Given the description of an element on the screen output the (x, y) to click on. 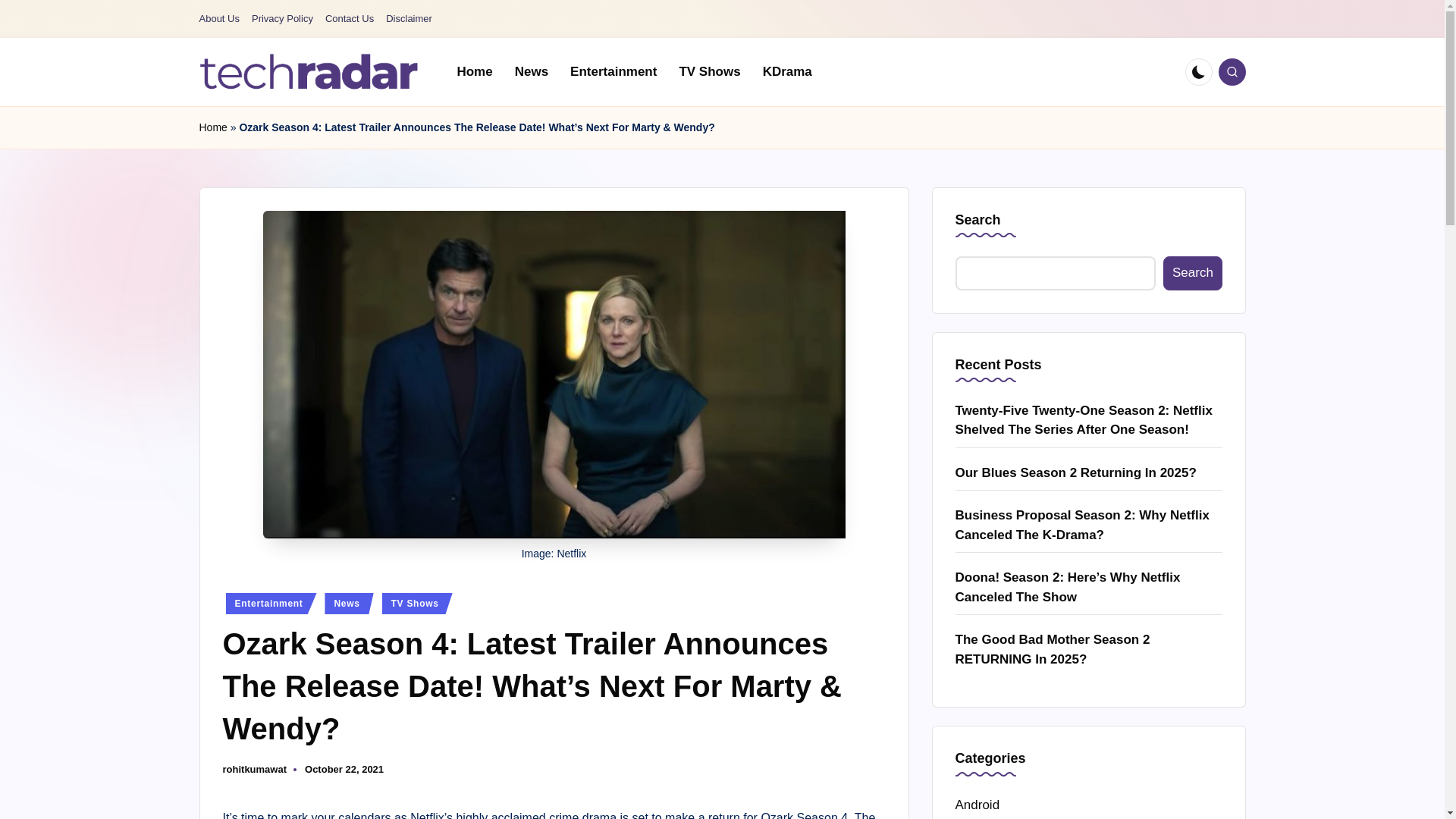
Contact Us (349, 18)
Our Blues Season 2 Returning In 2025? (1089, 473)
KDrama (787, 71)
Entertainment (271, 603)
TV Shows (709, 71)
Search (1192, 273)
Home (212, 127)
View all posts by rohitkumawat (254, 768)
Entertainment (612, 71)
